Given the description of an element on the screen output the (x, y) to click on. 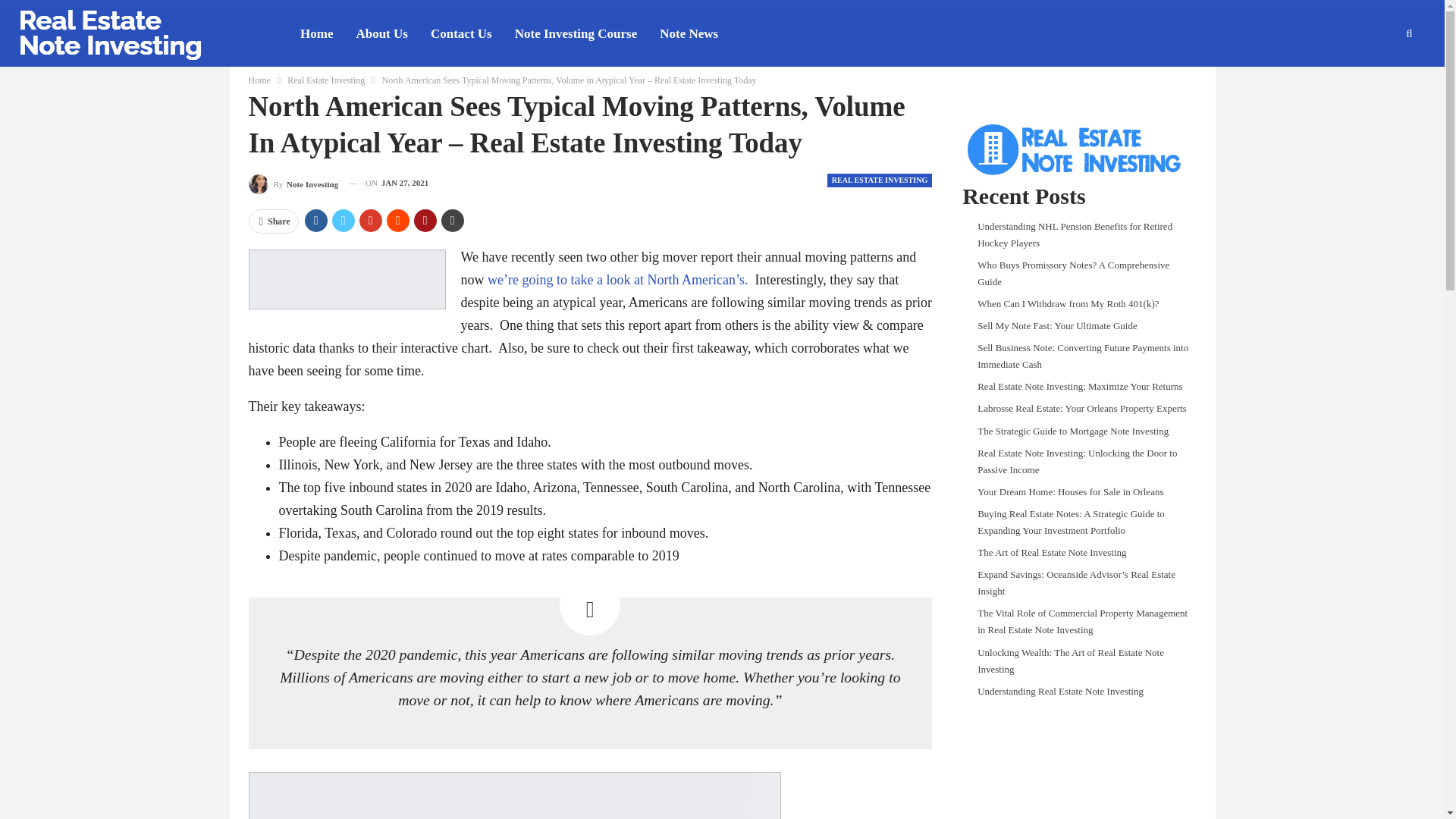
REAL ESTATE INVESTING (879, 180)
Real Estate Investing (325, 80)
Browse Author Articles (293, 182)
Contact Us (461, 34)
Home (316, 34)
By Note Investing (293, 182)
Note News (688, 34)
Note Investing Course (576, 34)
Home (259, 80)
About Us (381, 34)
